Given the description of an element on the screen output the (x, y) to click on. 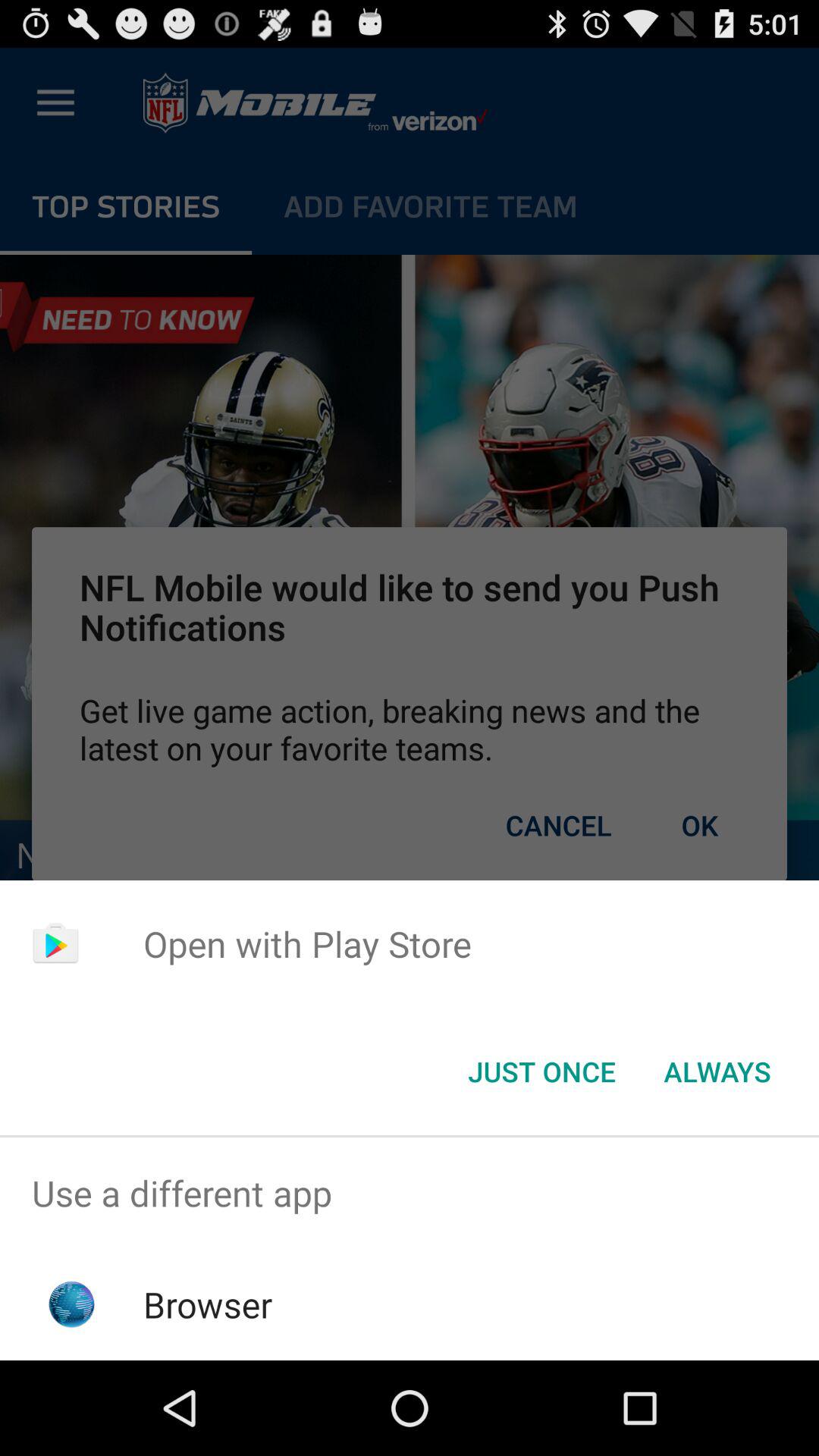
jump until the browser icon (207, 1304)
